Given the description of an element on the screen output the (x, y) to click on. 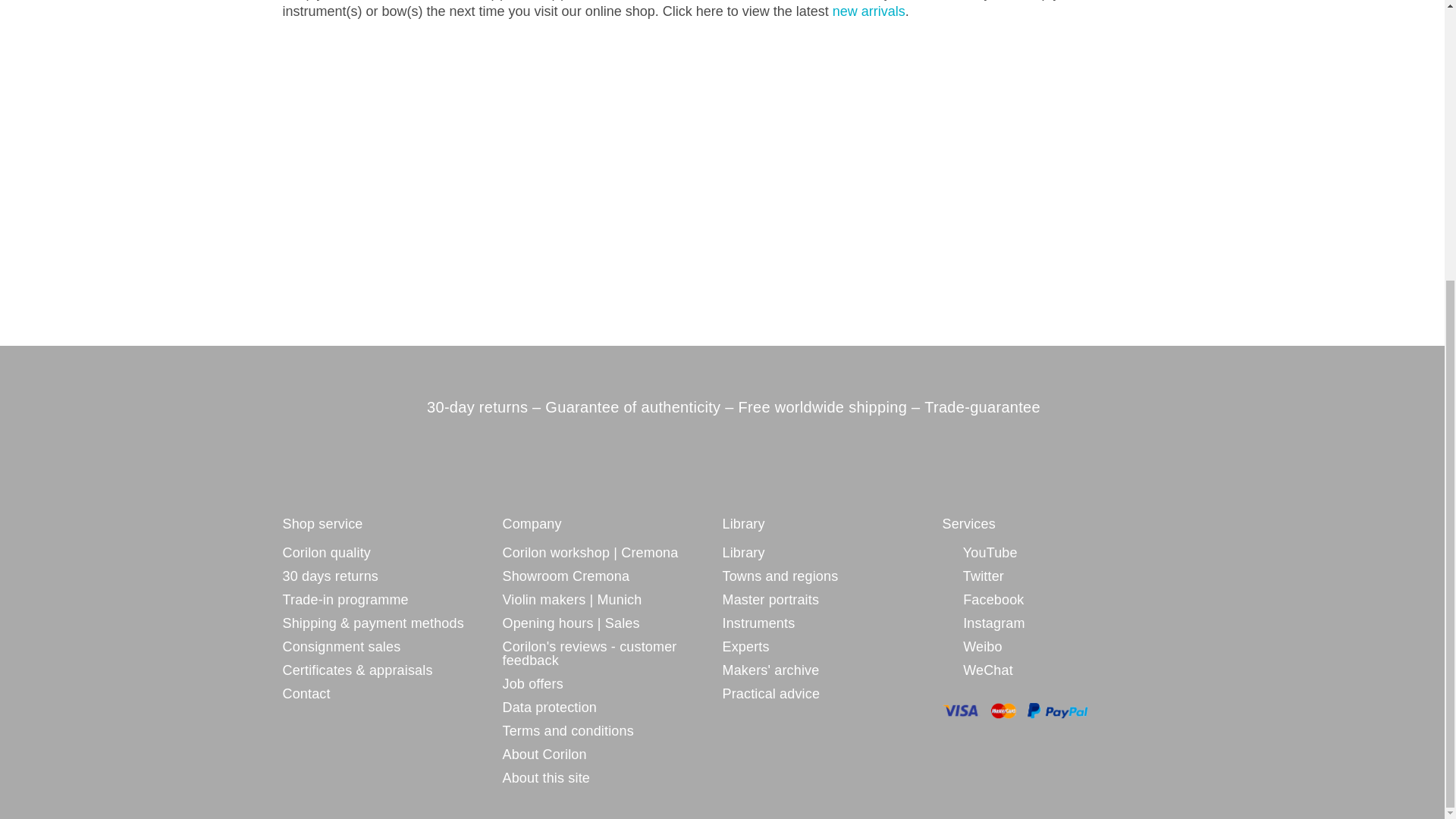
new arrivals (868, 11)
Showroom Cremona (565, 576)
Corilon quality (325, 552)
Corilon's reviews - customer feedback (612, 653)
30 days returns (329, 576)
Contact (306, 694)
Trade-in programme (344, 599)
Consignment sales (341, 646)
